Given the description of an element on the screen output the (x, y) to click on. 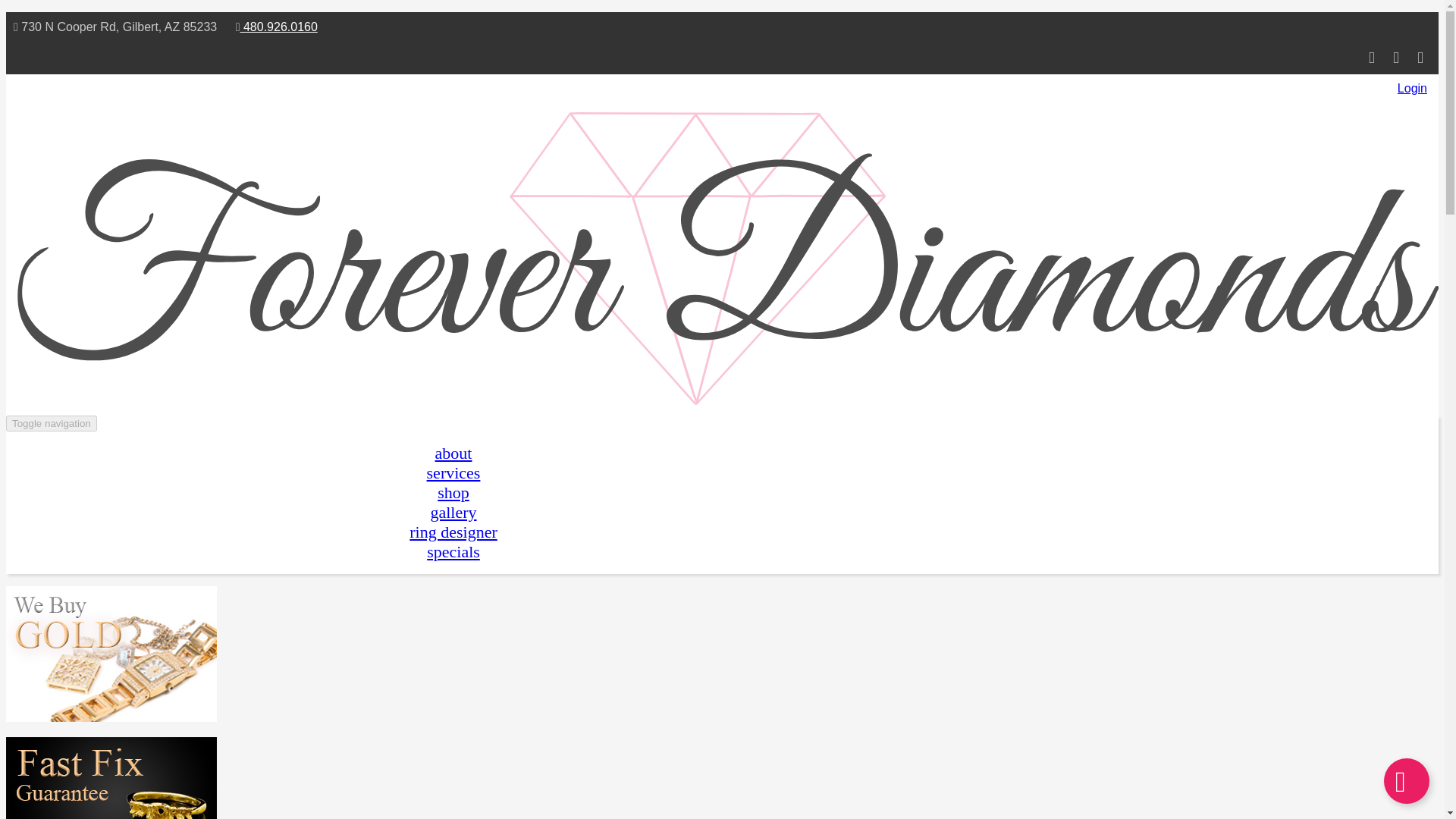
shop (453, 492)
services (453, 472)
Toggle navigation (51, 423)
ring designer (452, 531)
specials (453, 551)
about (453, 452)
480.926.0160 (278, 26)
gallery (452, 511)
